Given the description of an element on the screen output the (x, y) to click on. 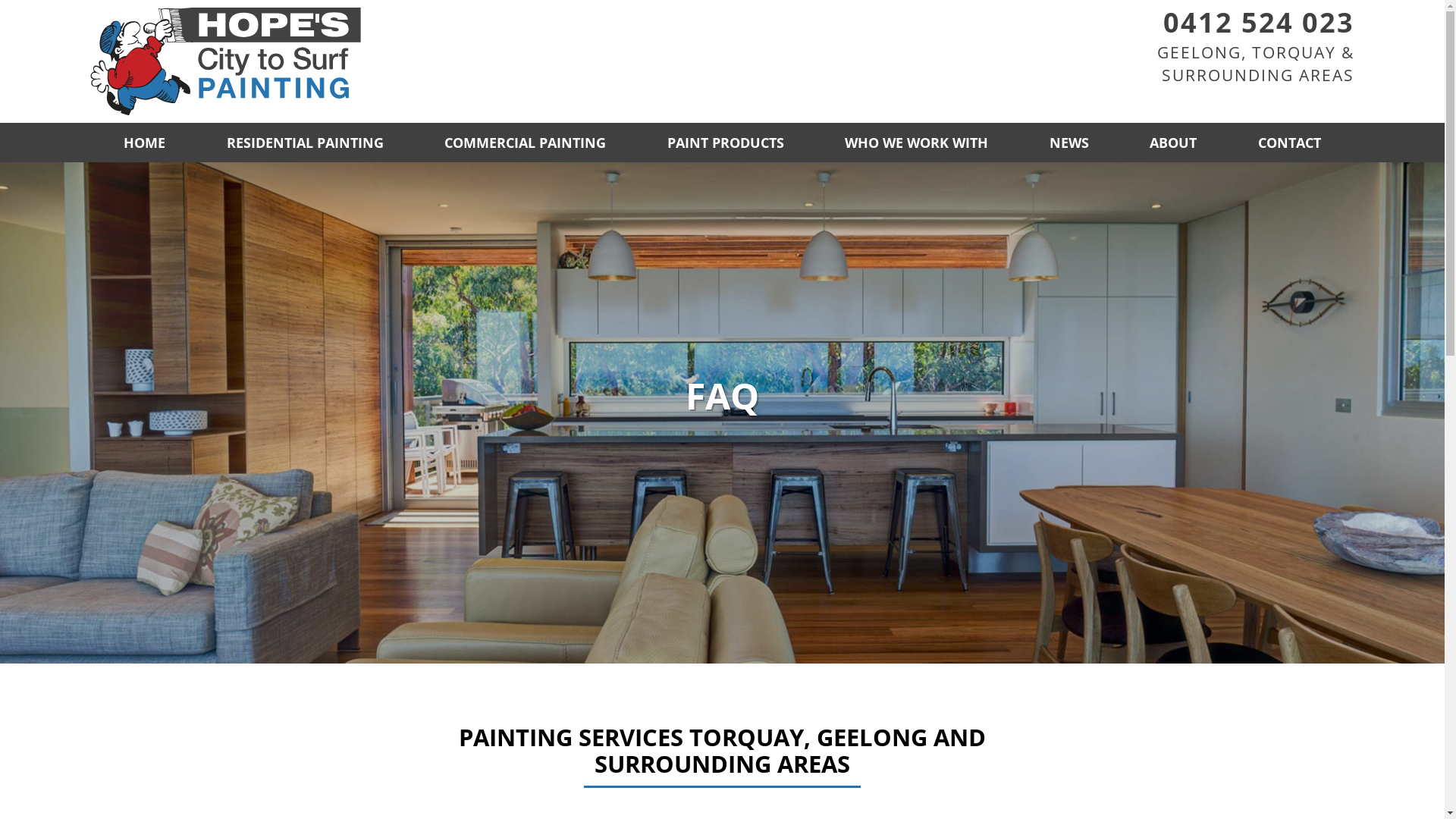
NEWS Element type: text (1069, 142)
HOME Element type: text (144, 142)
ABOUT Element type: text (1172, 142)
RESIDENTIAL PAINTING Element type: text (305, 142)
COMMERCIAL PAINTING Element type: text (525, 142)
PAINT PRODUCTS Element type: text (725, 142)
WHO WE WORK WITH Element type: text (916, 142)
CONTACT Element type: text (1289, 142)
